Given the description of an element on the screen output the (x, y) to click on. 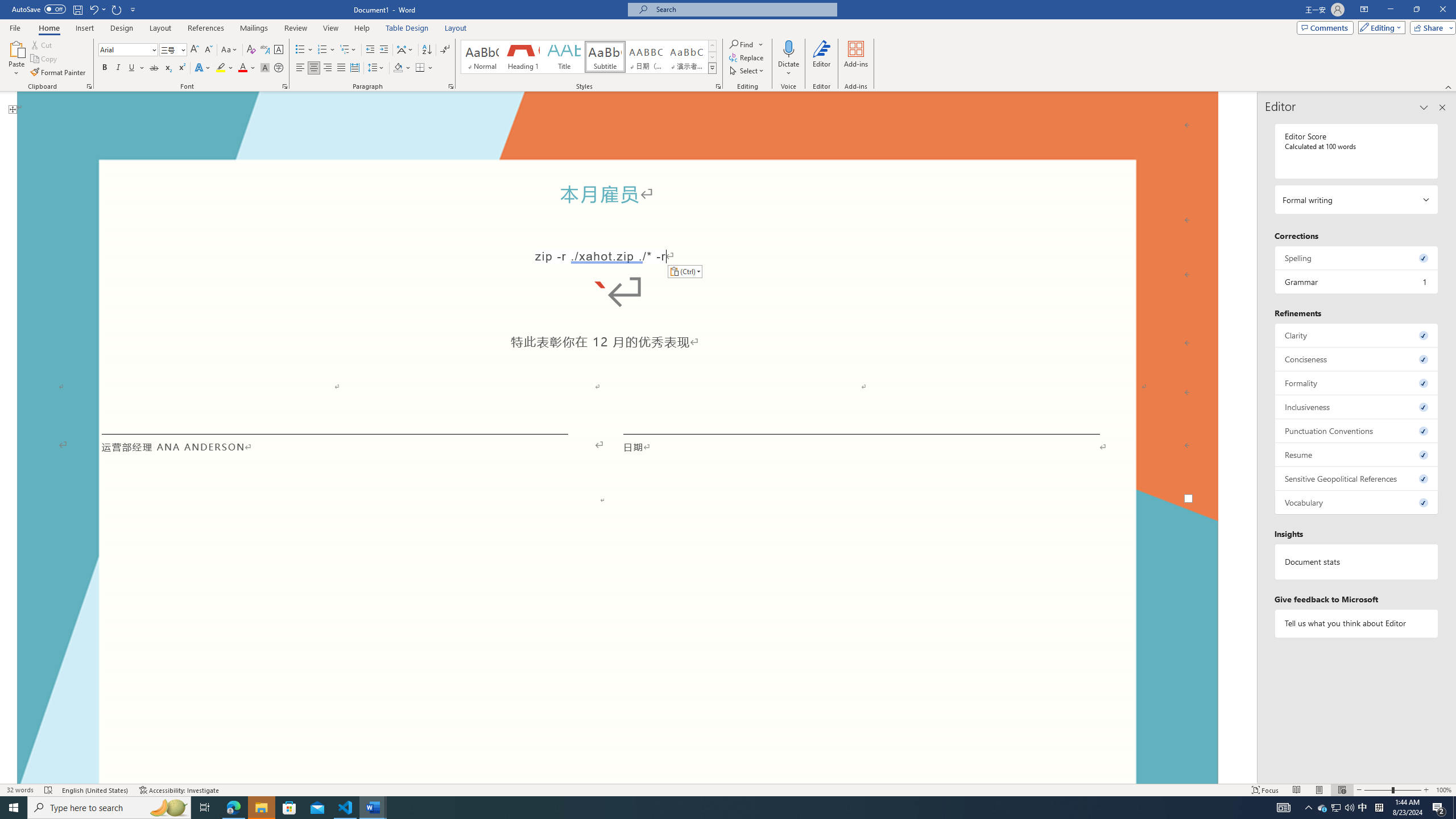
Font Color (246, 67)
Phonetic Guide... (264, 49)
Decrease Indent (370, 49)
Format Painter (58, 72)
Show/Hide Editing Marks (444, 49)
Table Design (407, 28)
